Given the description of an element on the screen output the (x, y) to click on. 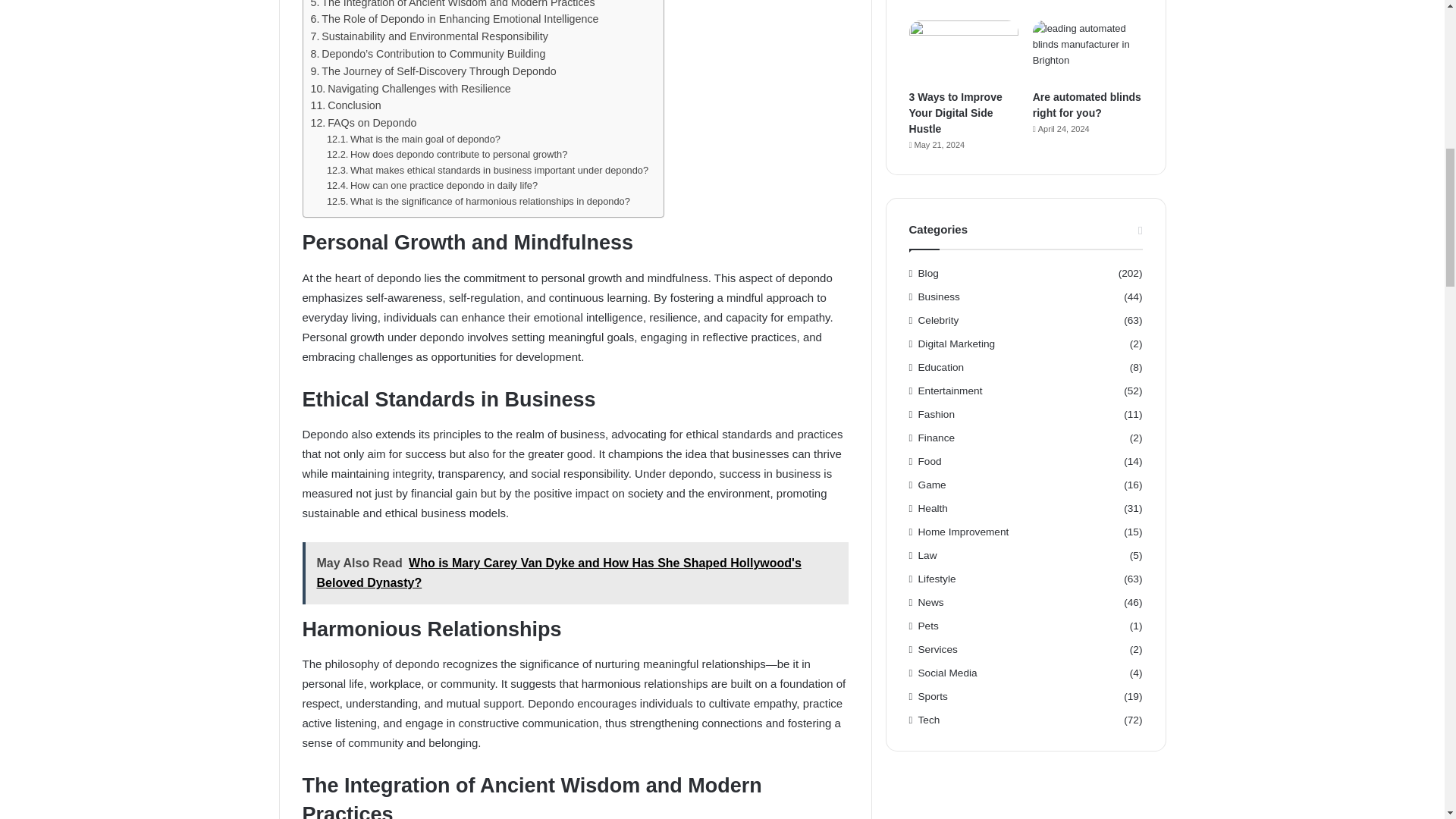
What is the main goal of depondo? (413, 139)
The Role of Depondo in Enhancing Emotional Intelligence (454, 18)
Conclusion (346, 105)
Sustainability and Environmental Responsibility (429, 36)
The Journey of Self-Discovery Through Depondo (433, 71)
Navigating Challenges with Resilience (411, 88)
Navigating Challenges with Resilience (411, 88)
The Integration of Ancient Wisdom and Modern Practices (453, 5)
The Role of Depondo in Enhancing Emotional Intelligence (454, 18)
FAQs on Depondo (363, 122)
